Given the description of an element on the screen output the (x, y) to click on. 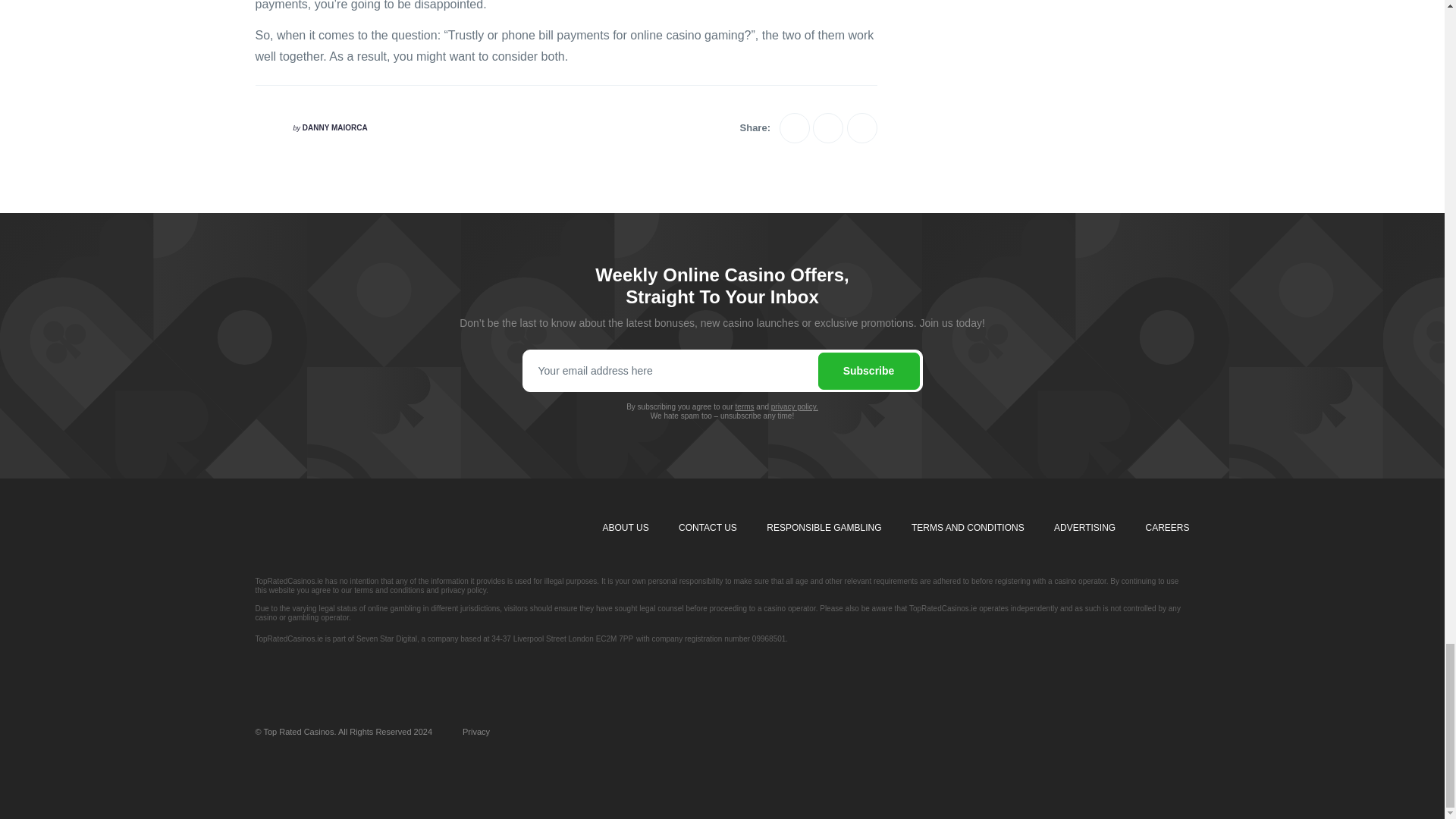
Subscribe (867, 370)
